Given the description of an element on the screen output the (x, y) to click on. 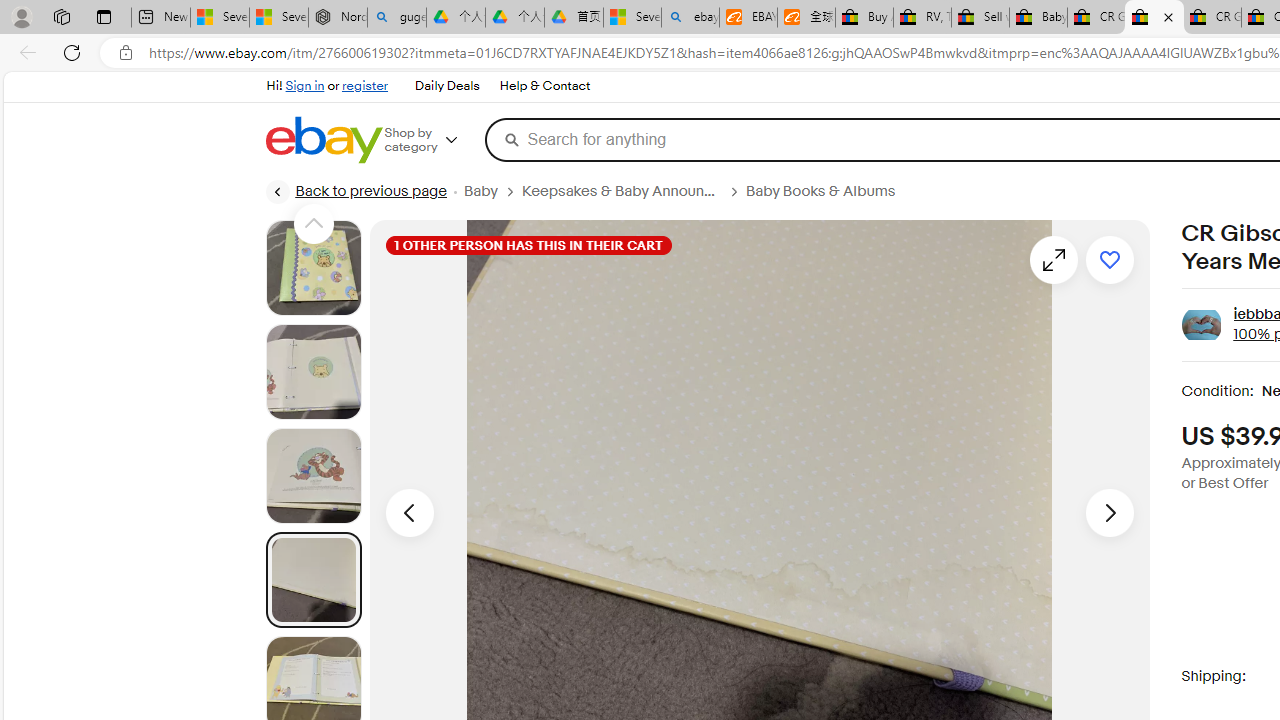
Picture 4 of 22 (313, 579)
Class: ux-action (1201, 325)
RV, Trailer & Camper Steps & Ladders for sale | eBay (922, 17)
Picture 3 of 22 (313, 475)
Help & Contact (545, 86)
Daily Deals (446, 85)
Daily Deals (447, 86)
Picture 4 of 22 (313, 579)
Baby Keepsakes & Announcements for sale | eBay (1038, 17)
